Given the description of an element on the screen output the (x, y) to click on. 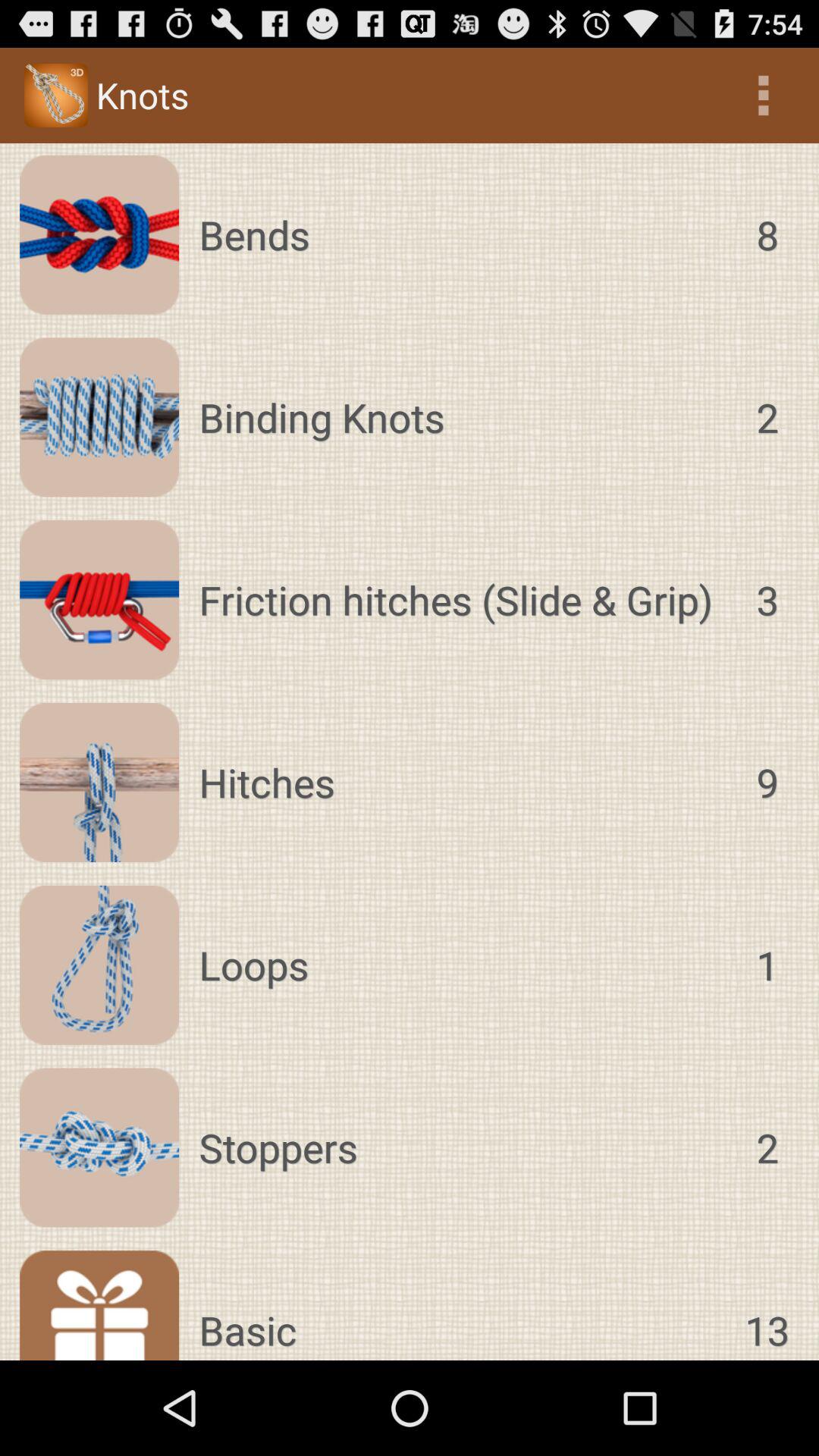
click item to the right of hitches (767, 782)
